Given the description of an element on the screen output the (x, y) to click on. 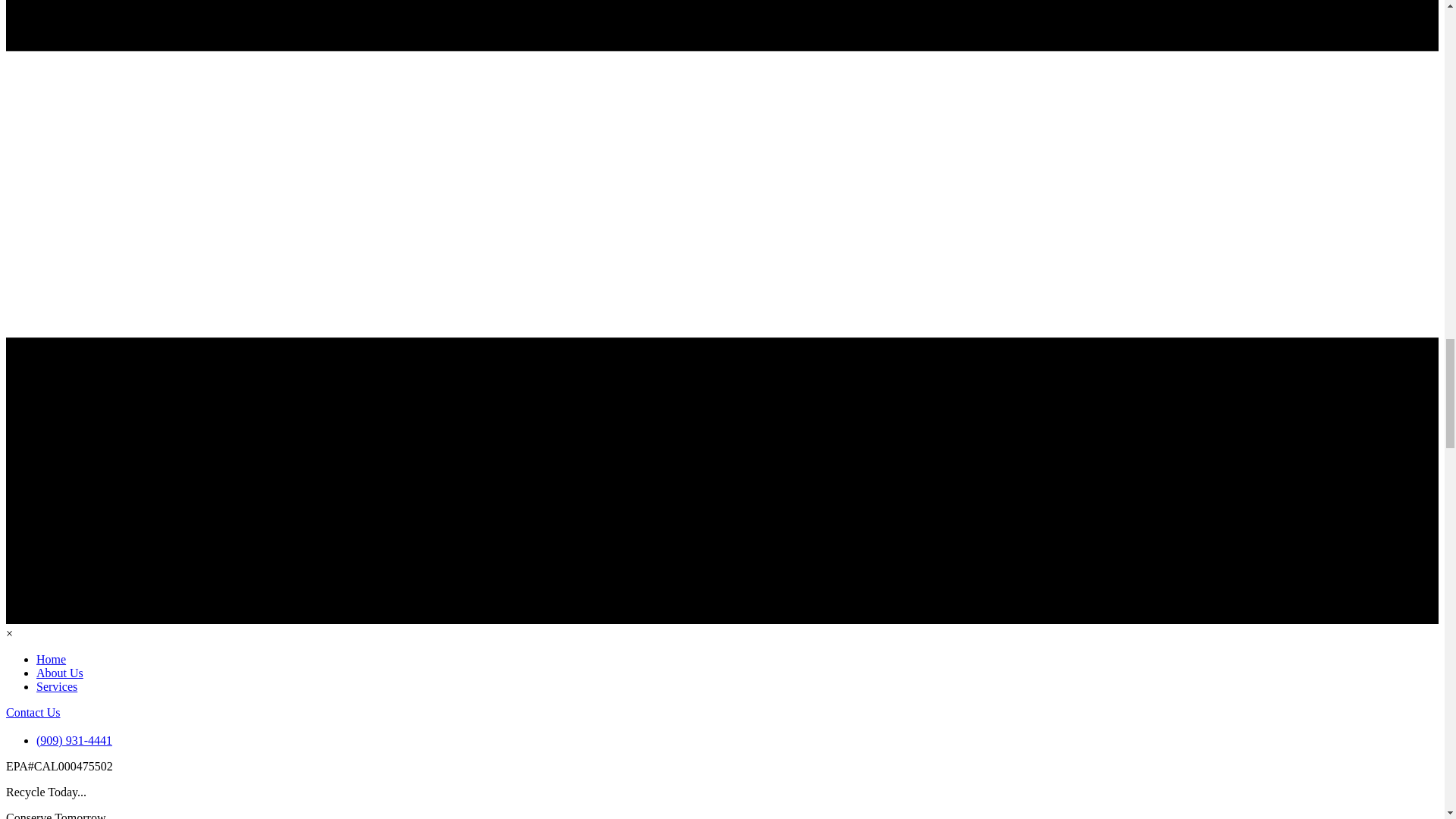
Services (56, 686)
About Us (59, 672)
Contact Us (33, 712)
Home (50, 658)
